Given the description of an element on the screen output the (x, y) to click on. 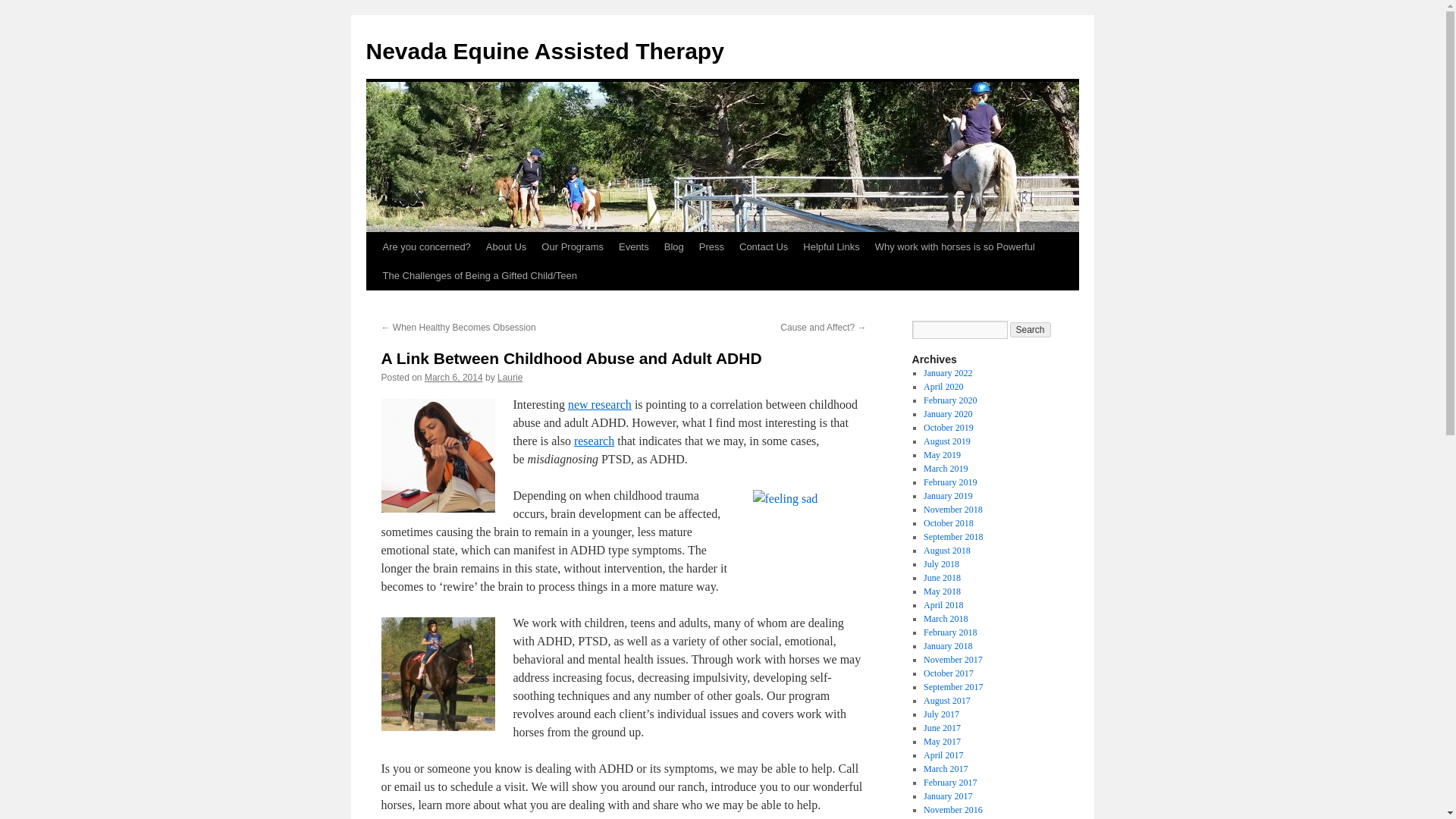
Are you concerned? (425, 246)
Laurie (509, 377)
Nevada Equine Assisted Therapy (544, 50)
Nevada Equine Assisted Therapy (544, 50)
Search (1030, 329)
Events (633, 246)
7:50 pm (454, 377)
Contact Us (763, 246)
Blog (673, 246)
new research (599, 404)
Helpful Links (830, 246)
research (593, 440)
View all posts by Laurie (509, 377)
Press (711, 246)
March 6, 2014 (454, 377)
